Given the description of an element on the screen output the (x, y) to click on. 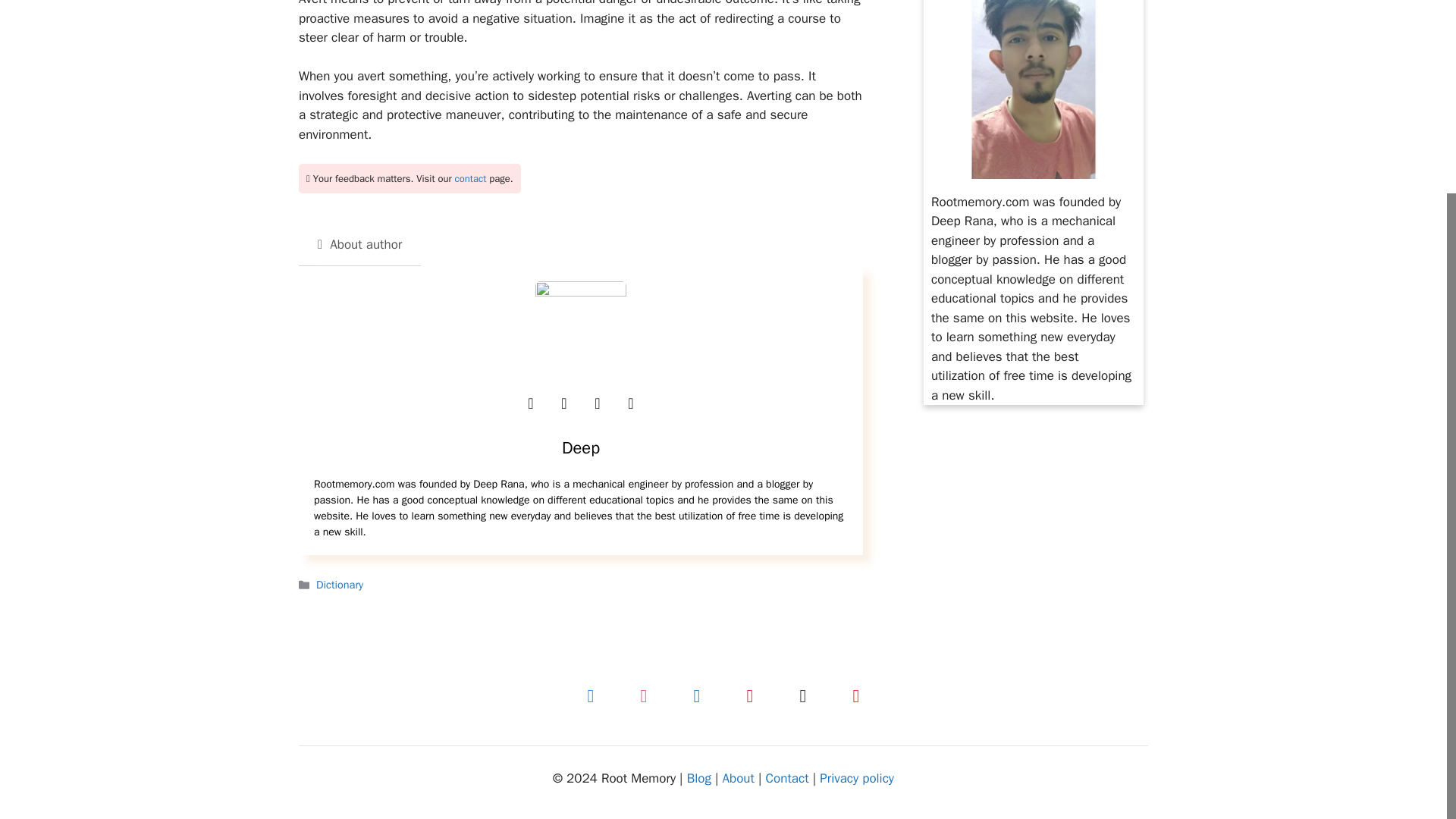
Contact (787, 778)
Blog (699, 778)
About (738, 778)
Dictionary (338, 584)
contact (470, 178)
Privacy policy (856, 778)
